Given the description of an element on the screen output the (x, y) to click on. 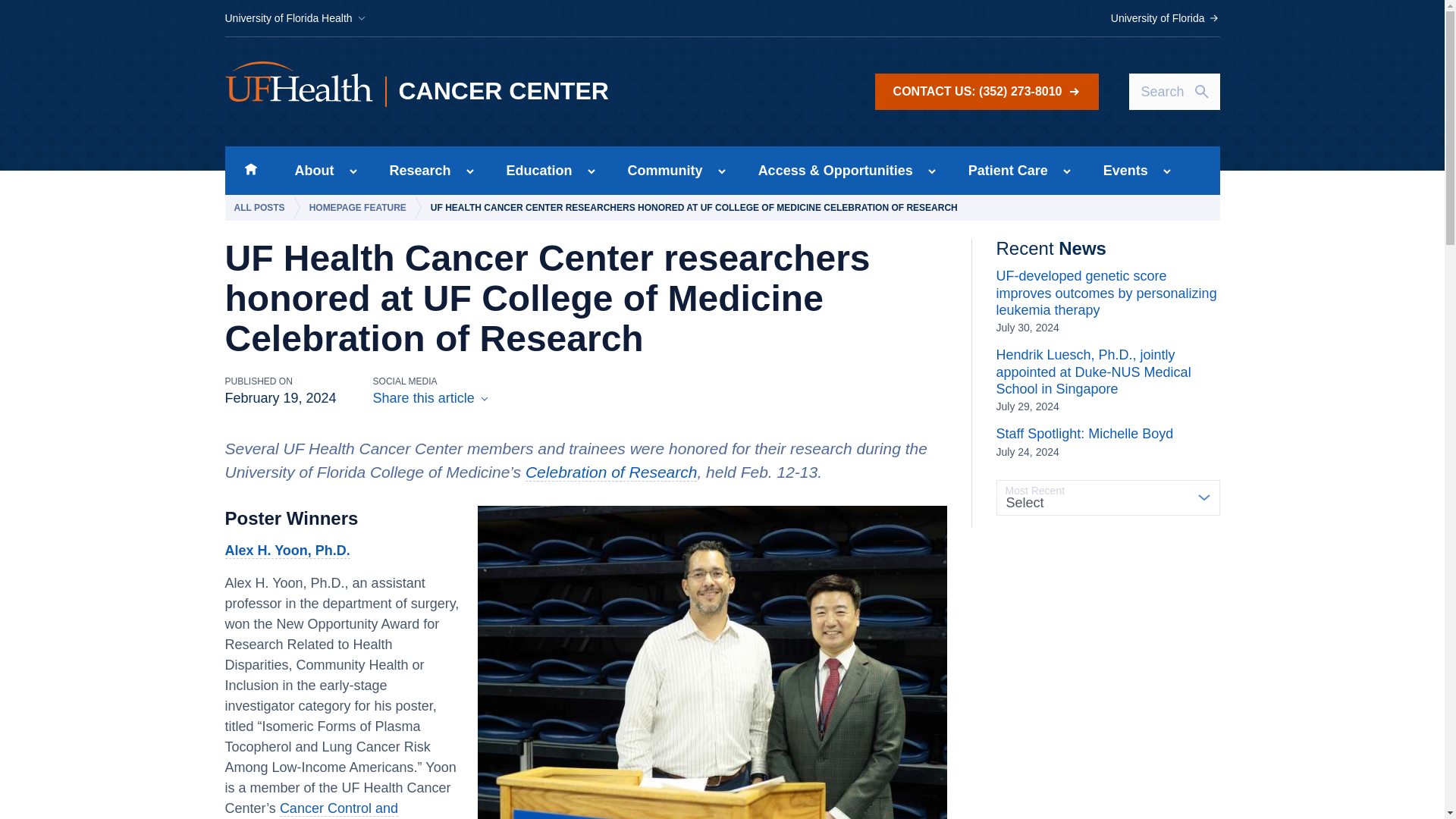
University of Florida (1165, 18)
Home (250, 170)
Research (415, 170)
University of Florida Health (295, 18)
About (309, 170)
CANCER CENTER (515, 91)
